Given the description of an element on the screen output the (x, y) to click on. 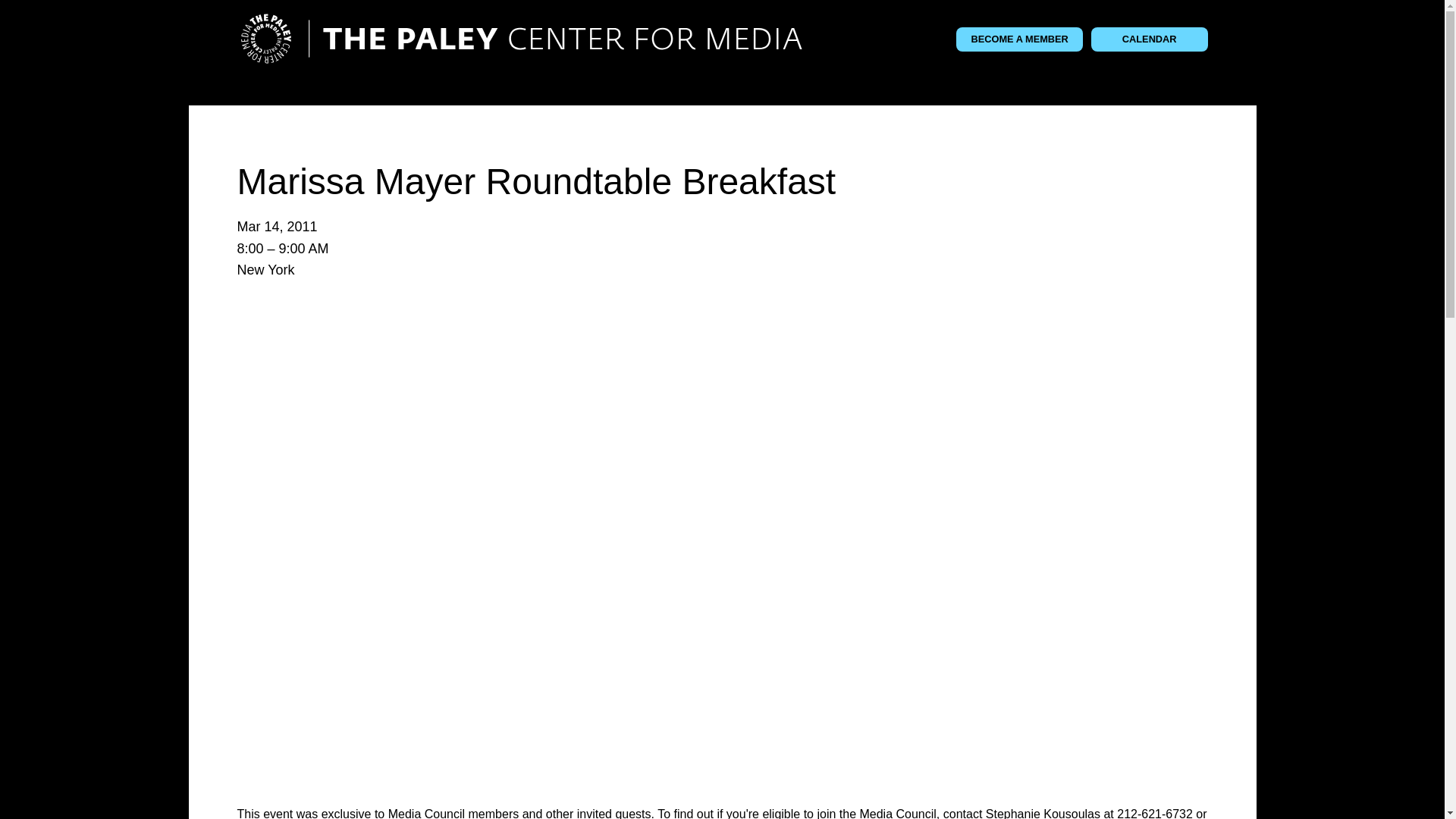
CALENDAR (1149, 39)
BECOME A MEMBER (1019, 39)
The Paley Center for Media (520, 38)
